Given the description of an element on the screen output the (x, y) to click on. 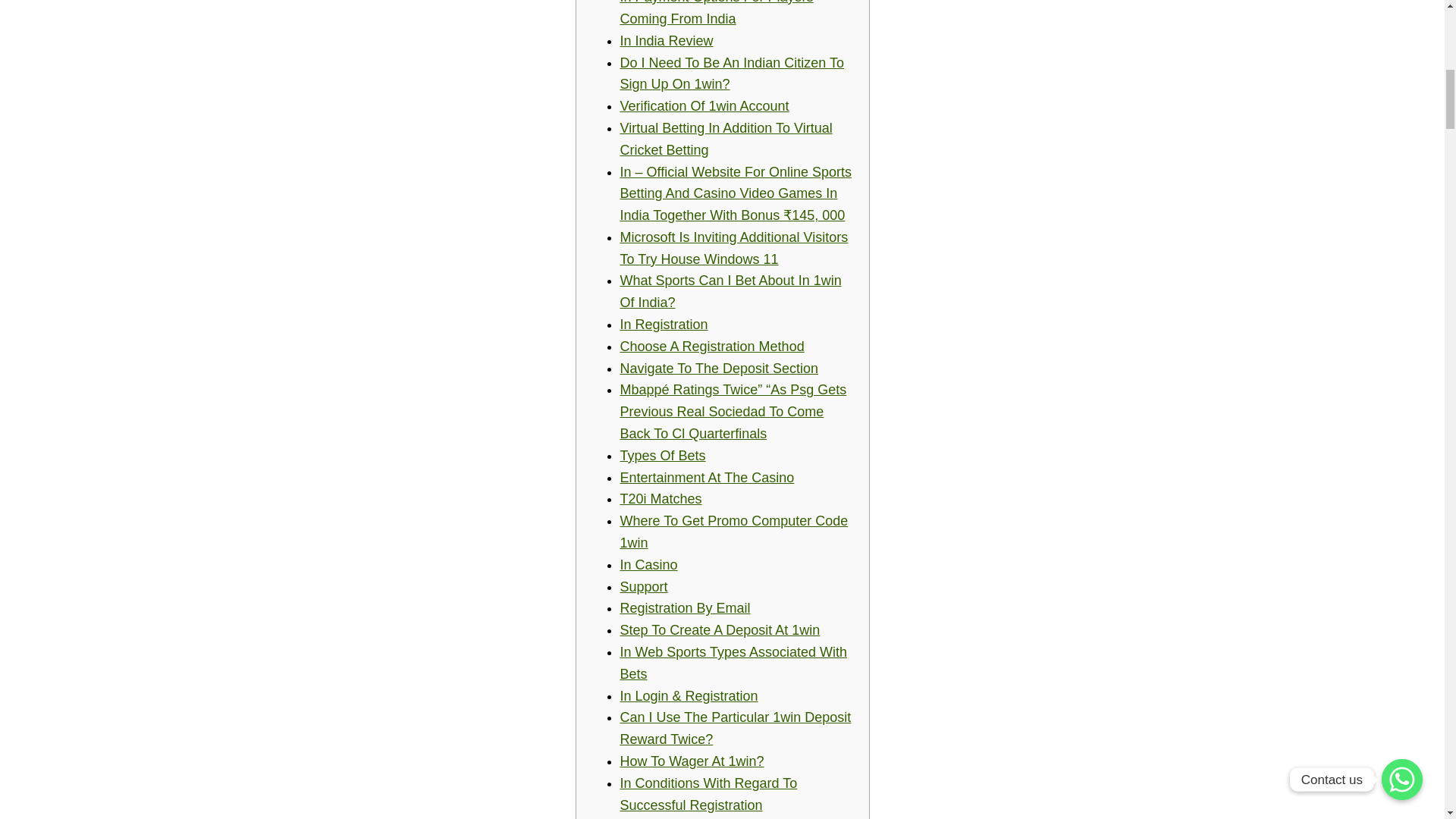
Entertainment At The Casino (707, 477)
In Payment Options For Players Coming From India (716, 13)
Support (644, 586)
Types Of Bets (663, 455)
T20i Matches (660, 498)
What Sports Can I Bet About In 1win Of India? (730, 291)
Virtual Betting In Addition To Virtual Cricket Betting (726, 139)
In Web Sports Types Associated With Bets (733, 662)
Navigate To The Deposit Section (719, 368)
